Given the description of an element on the screen output the (x, y) to click on. 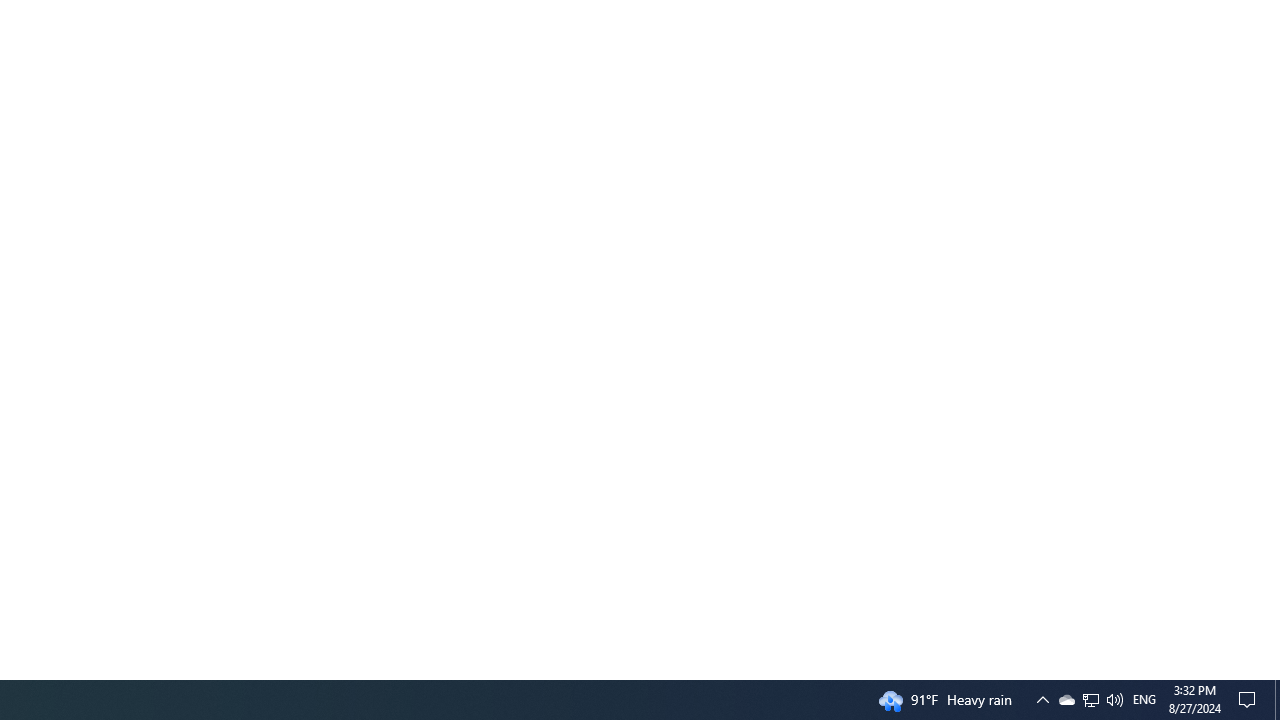
Q2790: 100% (1066, 699)
Action Center, No new notifications (1114, 699)
User Promoted Notification Area (1250, 699)
Notification Chevron (1091, 699)
Tray Input Indicator - English (United States) (1090, 699)
Show desktop (1042, 699)
